Given the description of an element on the screen output the (x, y) to click on. 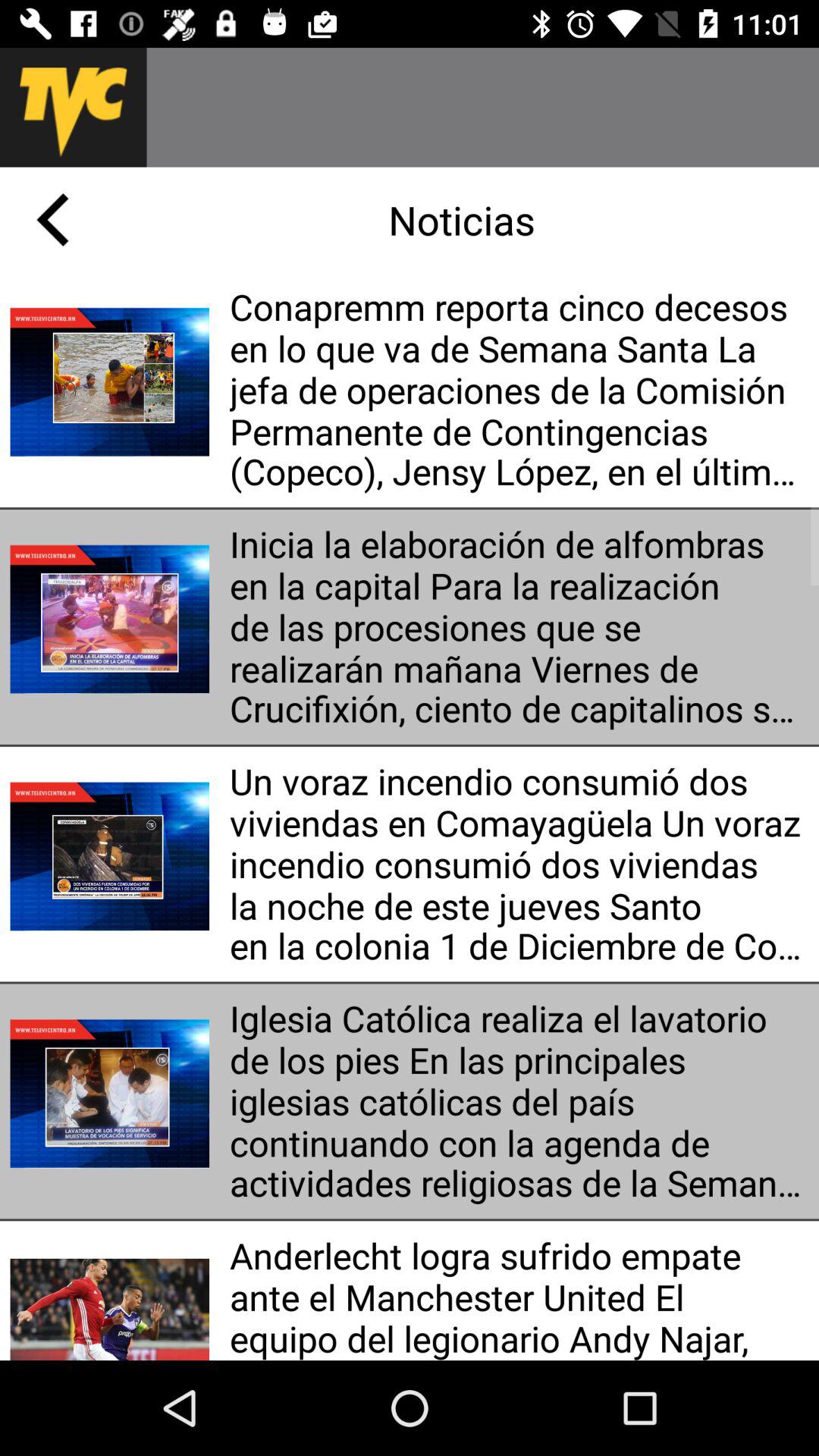
swipe until the conapremm reporta cinco app (518, 389)
